Given the description of an element on the screen output the (x, y) to click on. 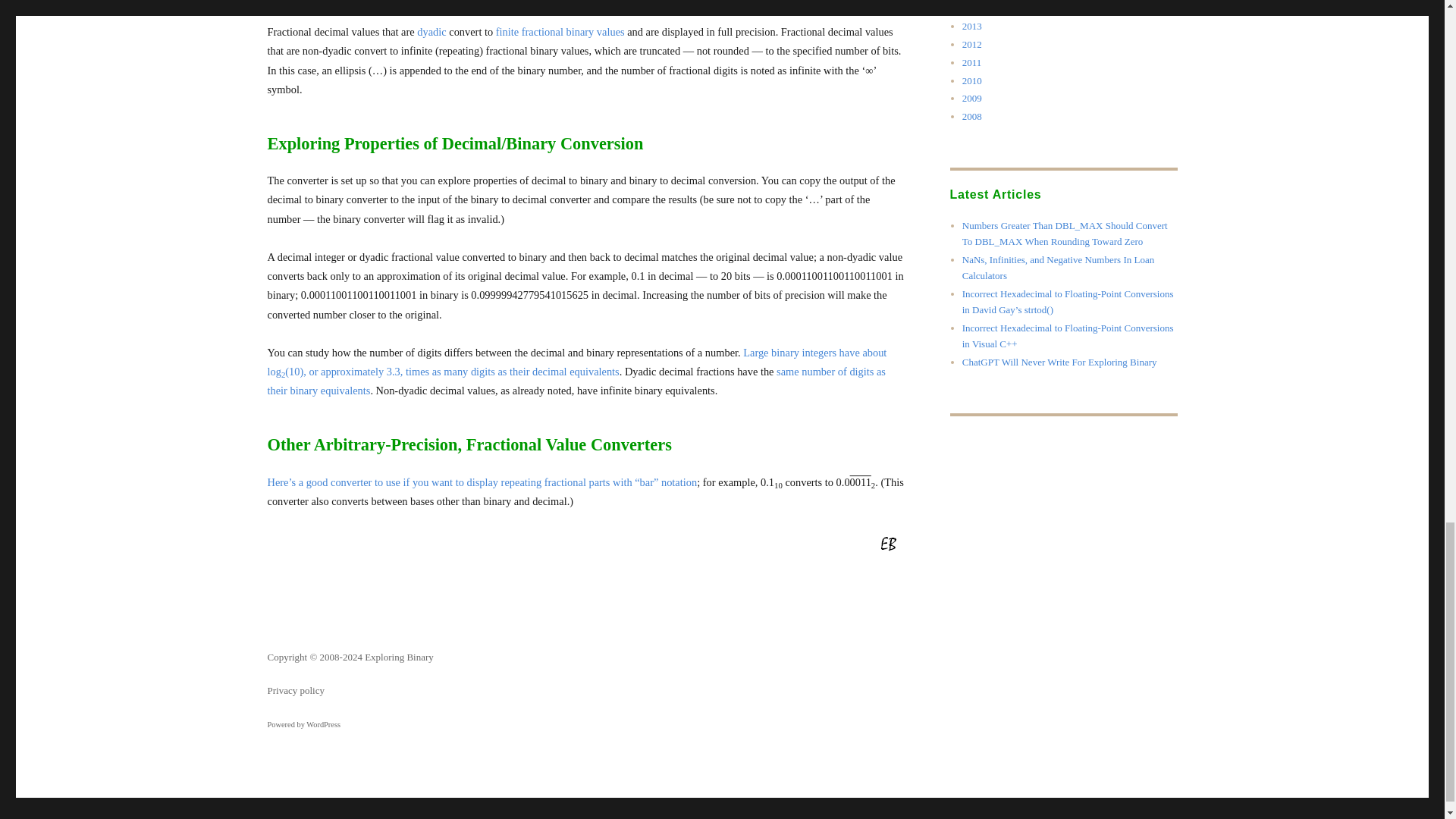
Wikipedia article on dyadic fraction (430, 31)
same number of digits as their binary equivalents (575, 380)
dyadic (430, 31)
finite fractional binary values (560, 31)
